Given the description of an element on the screen output the (x, y) to click on. 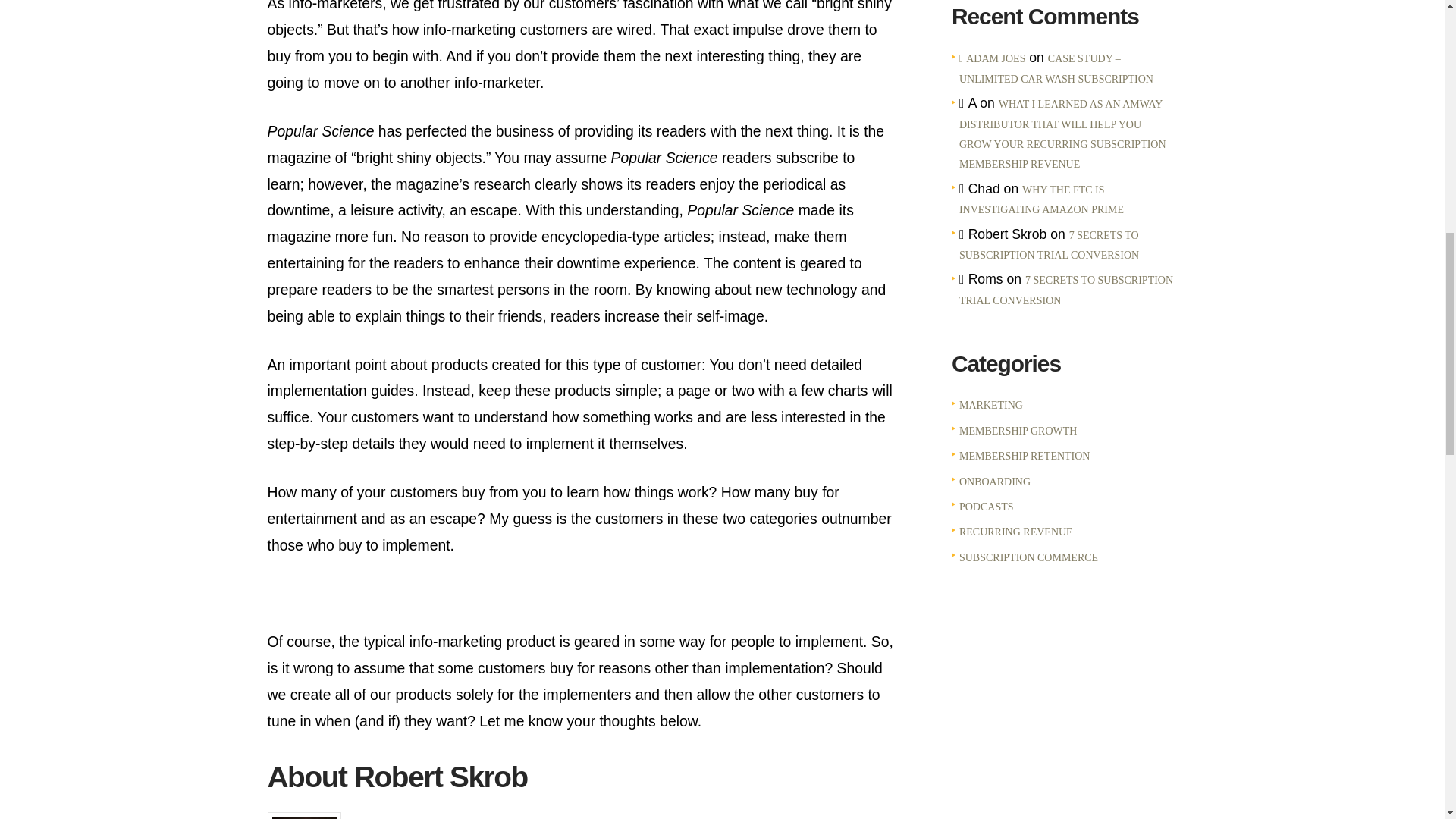
RECURRING REVENUE (1016, 531)
SUBSCRIPTION COMMERCE (1028, 557)
7 SECRETS TO SUBSCRIPTION TRIAL CONVERSION (1066, 289)
MARKETING (991, 405)
7 SECRETS TO SUBSCRIPTION TRIAL CONVERSION (1048, 245)
MEMBERSHIP GROWTH (1018, 430)
ADAM JOES (992, 58)
ONBOARDING (994, 481)
PODCASTS (986, 506)
